Given the description of an element on the screen output the (x, y) to click on. 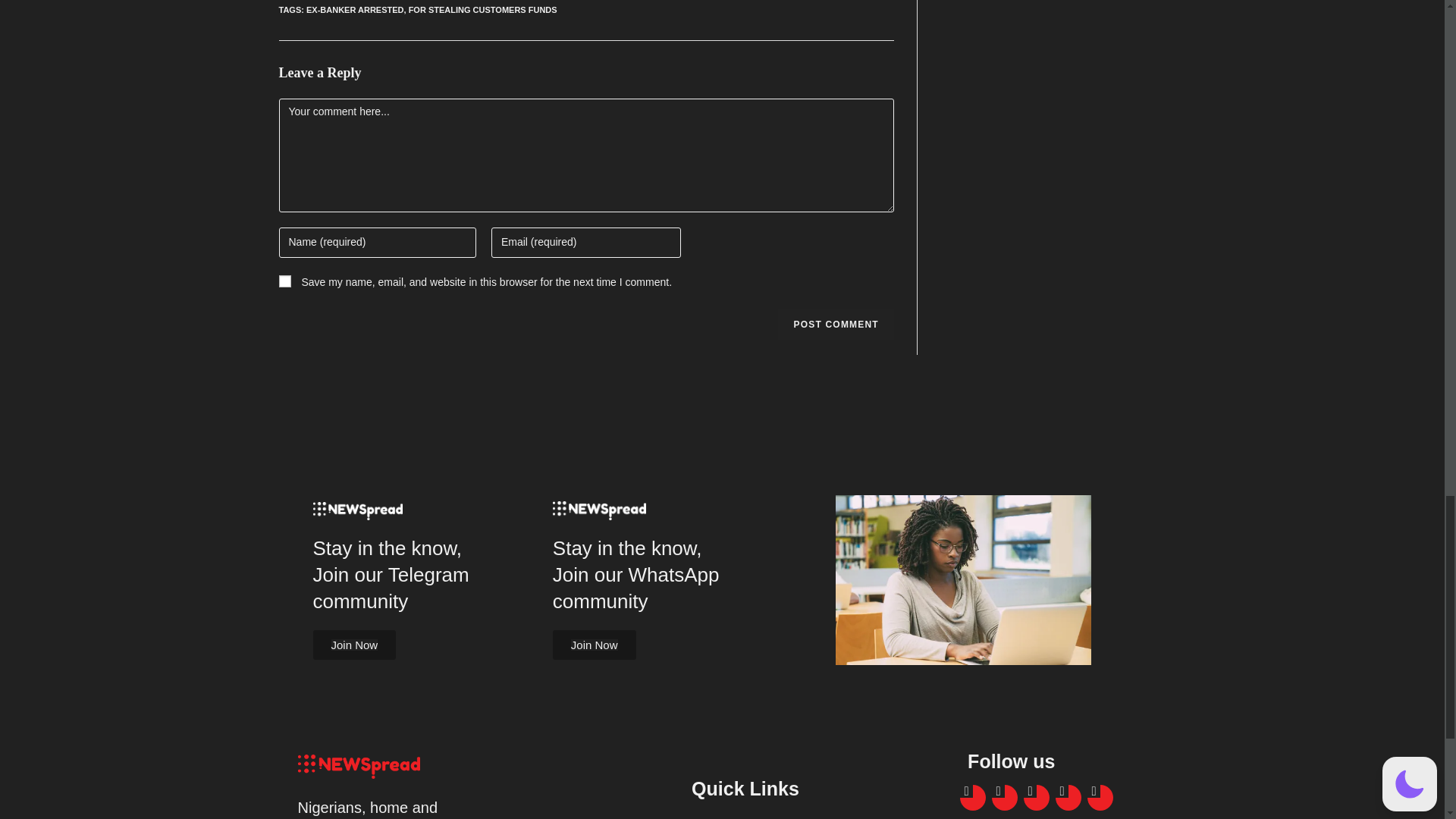
Post Comment (835, 324)
yes (285, 281)
